Given the description of an element on the screen output the (x, y) to click on. 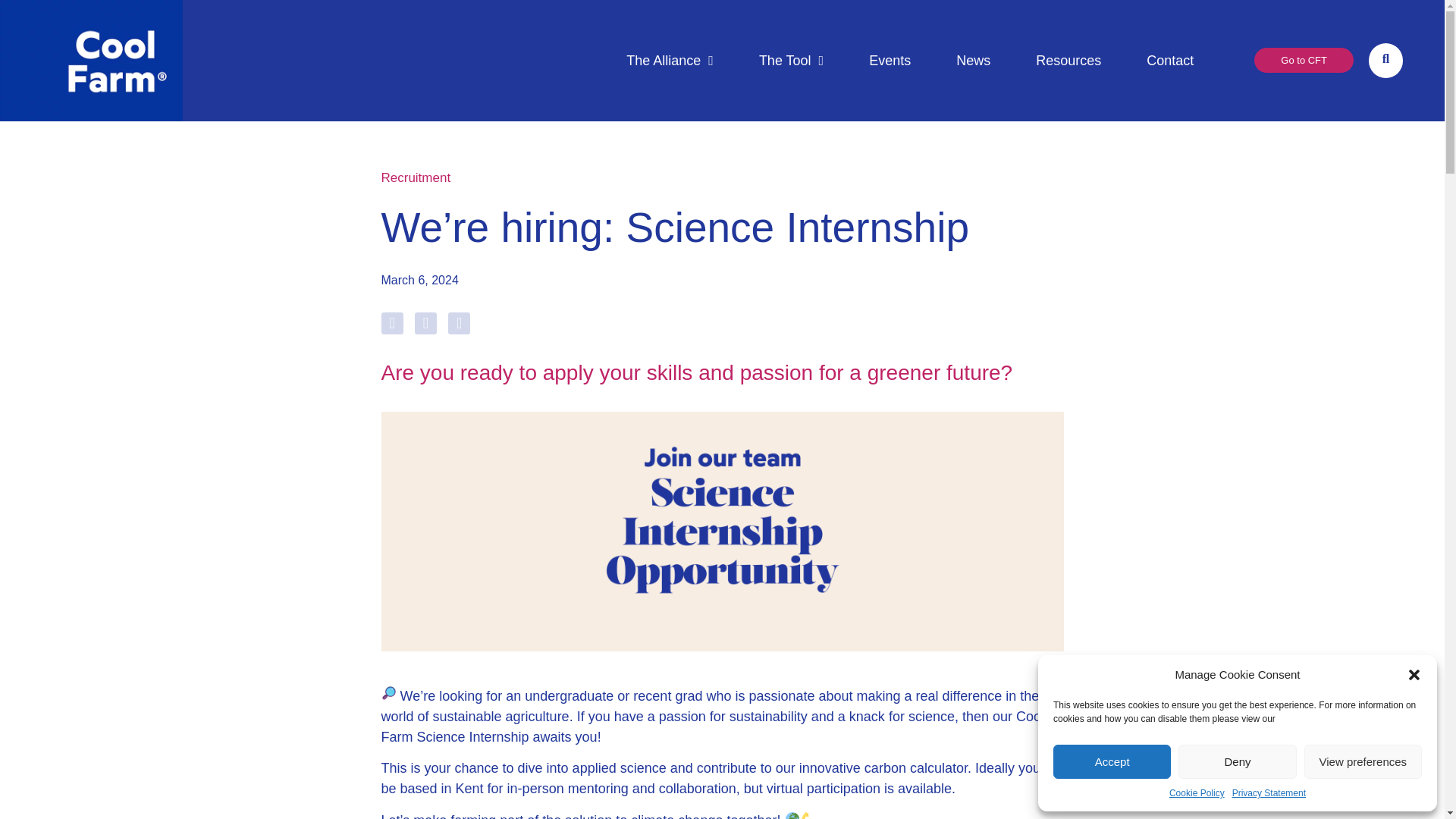
News (973, 60)
The Tool (791, 60)
Cookie Policy (1196, 793)
Accept (1111, 761)
The Alliance (669, 60)
Privacy Statement (1268, 793)
Resources (1067, 60)
View preferences (1363, 761)
Deny (1236, 761)
Contact (1170, 60)
Events (890, 60)
